Given the description of an element on the screen output the (x, y) to click on. 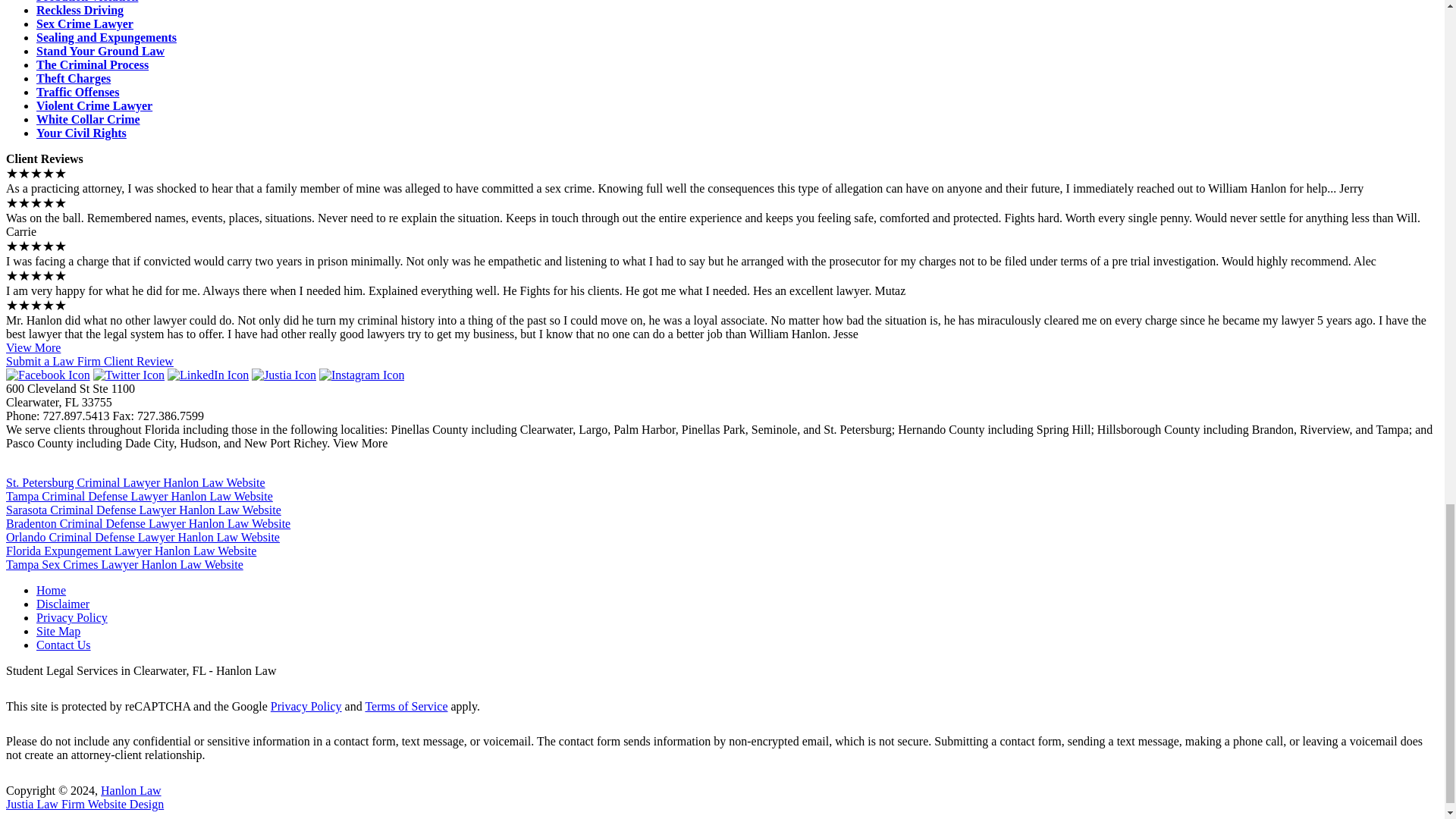
LinkedIn (207, 374)
Justia (283, 374)
Instagram (361, 374)
Twitter (128, 374)
Facebook (47, 374)
